Given the description of an element on the screen output the (x, y) to click on. 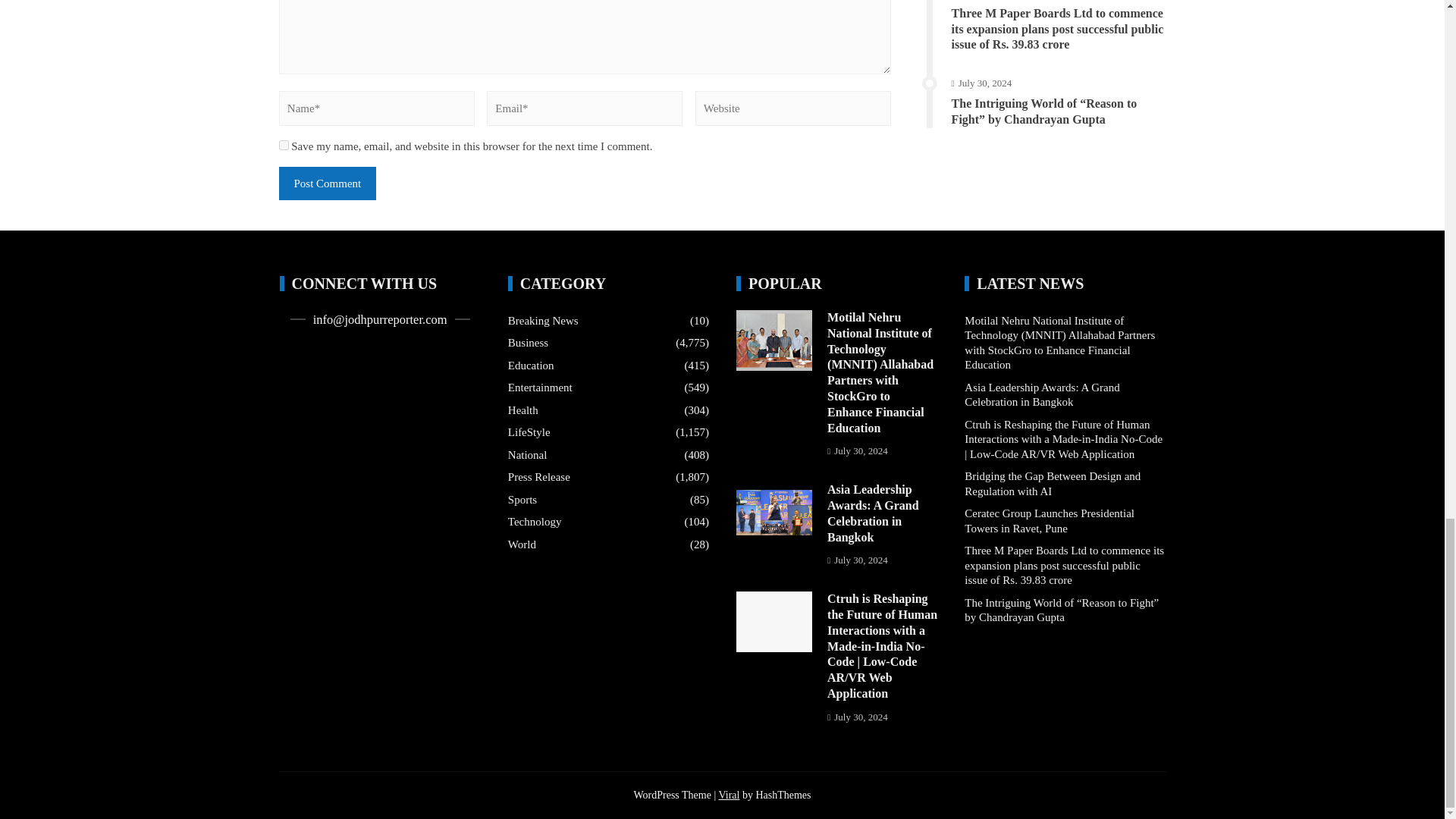
Breaking News (543, 321)
Business (528, 343)
yes (283, 144)
Entertainment (540, 387)
Health (523, 410)
Education (531, 365)
Post Comment (328, 183)
Download Viral (728, 794)
Post Comment (328, 183)
